Given the description of an element on the screen output the (x, y) to click on. 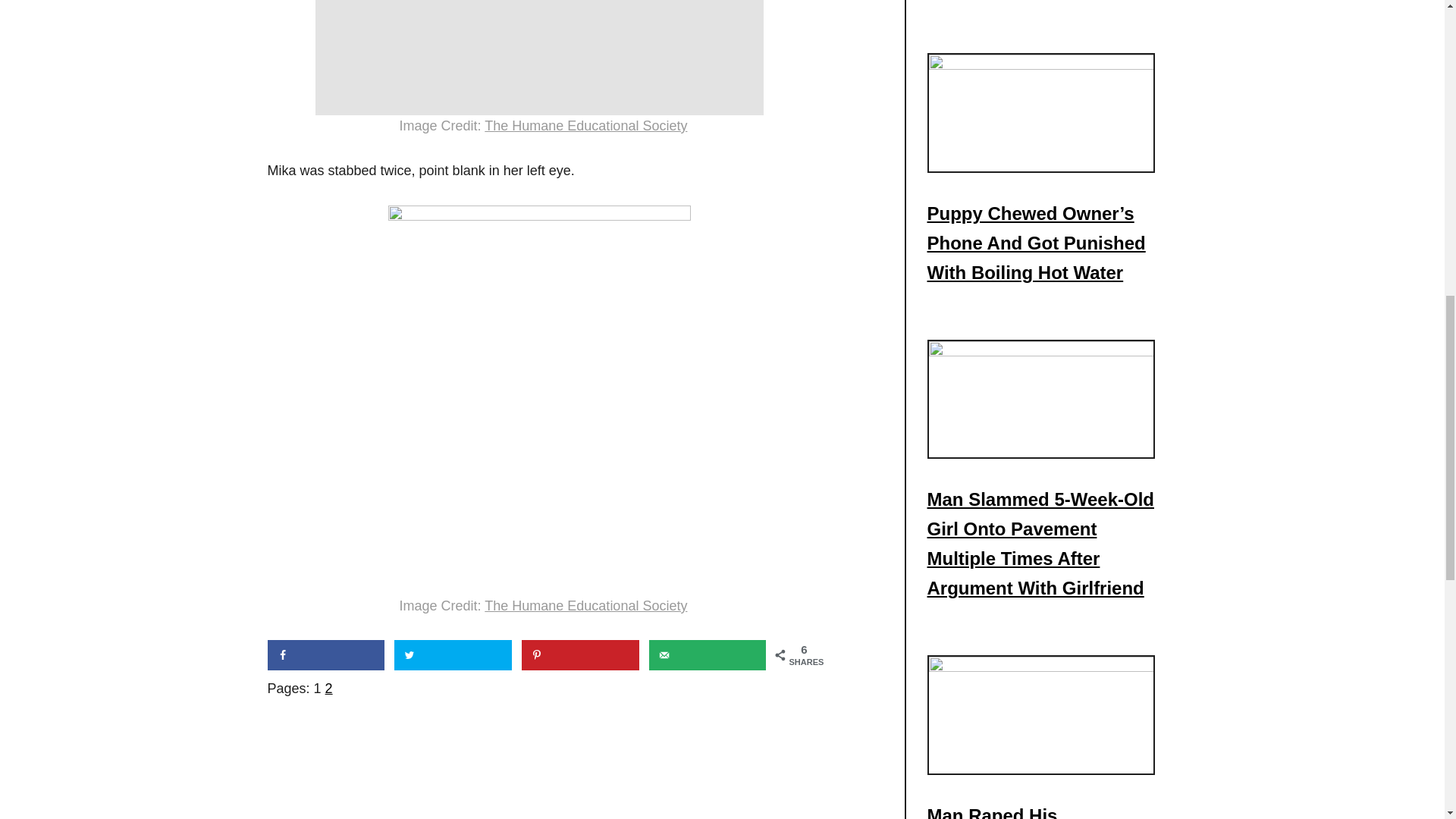
The Humane Educational Society (585, 605)
Send over email (708, 654)
The Humane Educational Society (585, 125)
Save to Pinterest (580, 654)
Share on Facebook (325, 654)
